Given the description of an element on the screen output the (x, y) to click on. 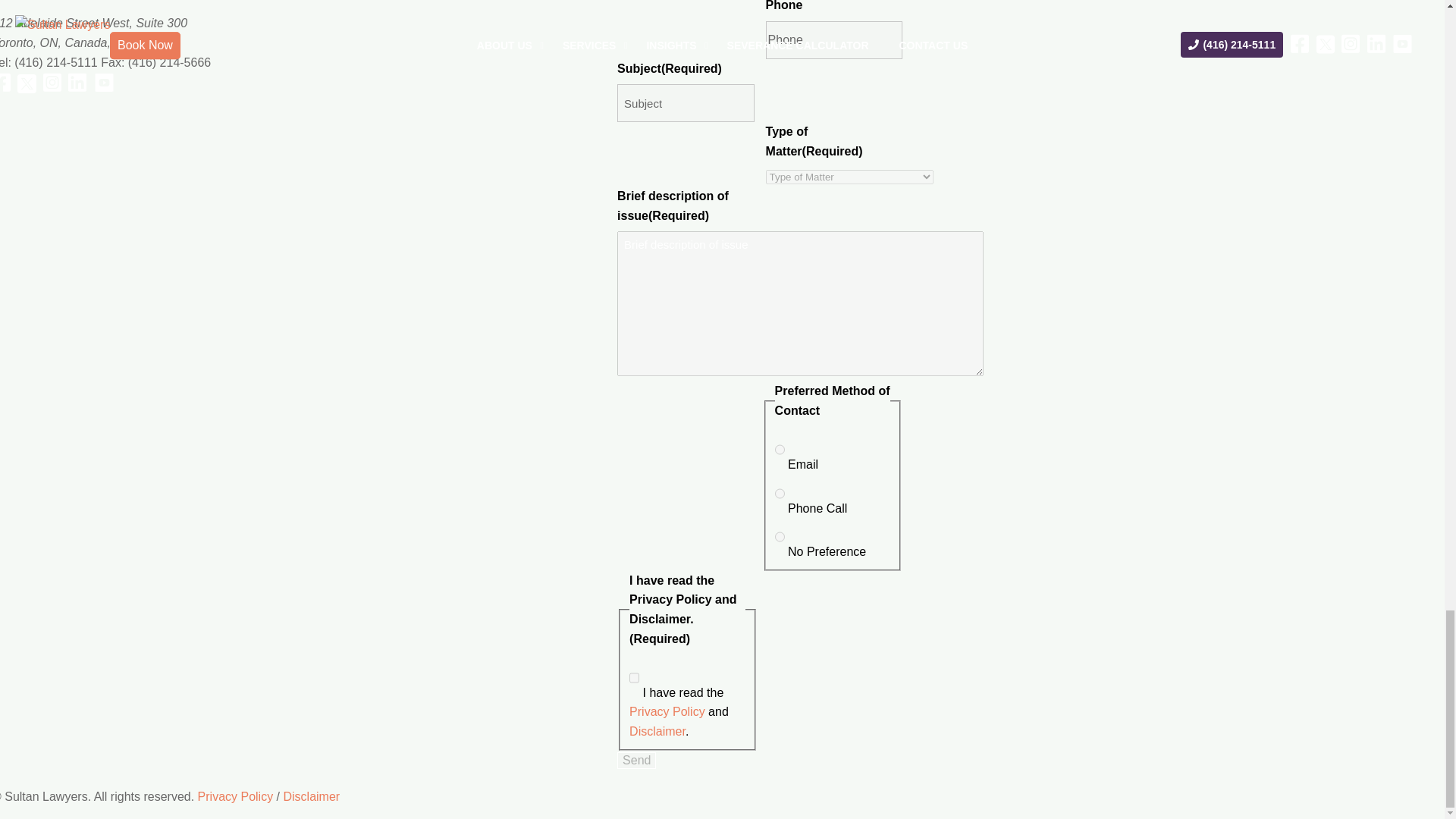
376323 (779, 536)
376322 (779, 493)
376321 (779, 449)
Send (636, 760)
